Given the description of an element on the screen output the (x, y) to click on. 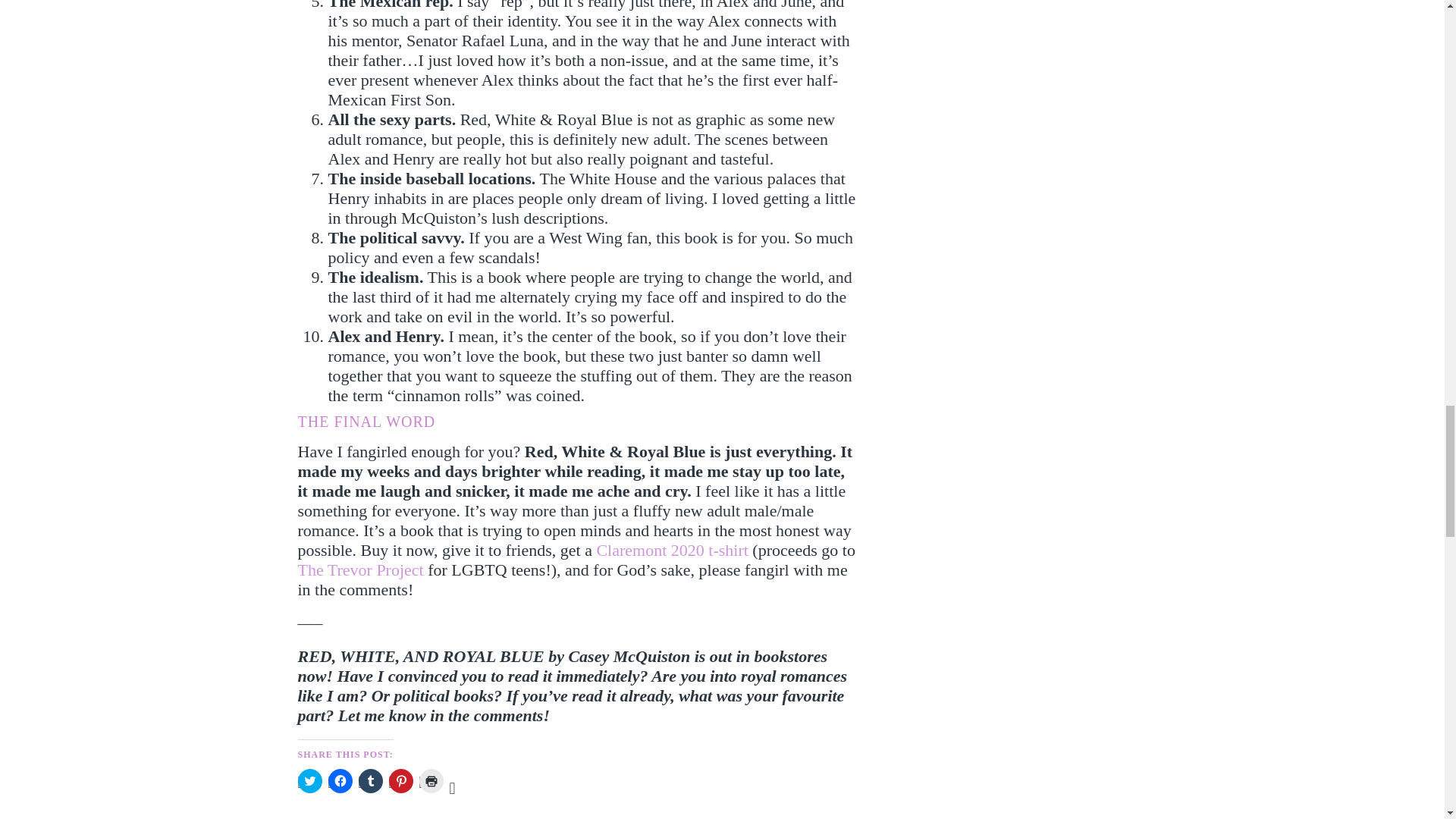
Click to share on Tumblr (369, 781)
The Trevor Project (360, 569)
Click to share on Facebook (339, 781)
Click to share on Pinterest (400, 781)
Click to share on Twitter (309, 781)
Click to print (430, 781)
Claremont 2020 t-shirt (671, 549)
